Given the description of an element on the screen output the (x, y) to click on. 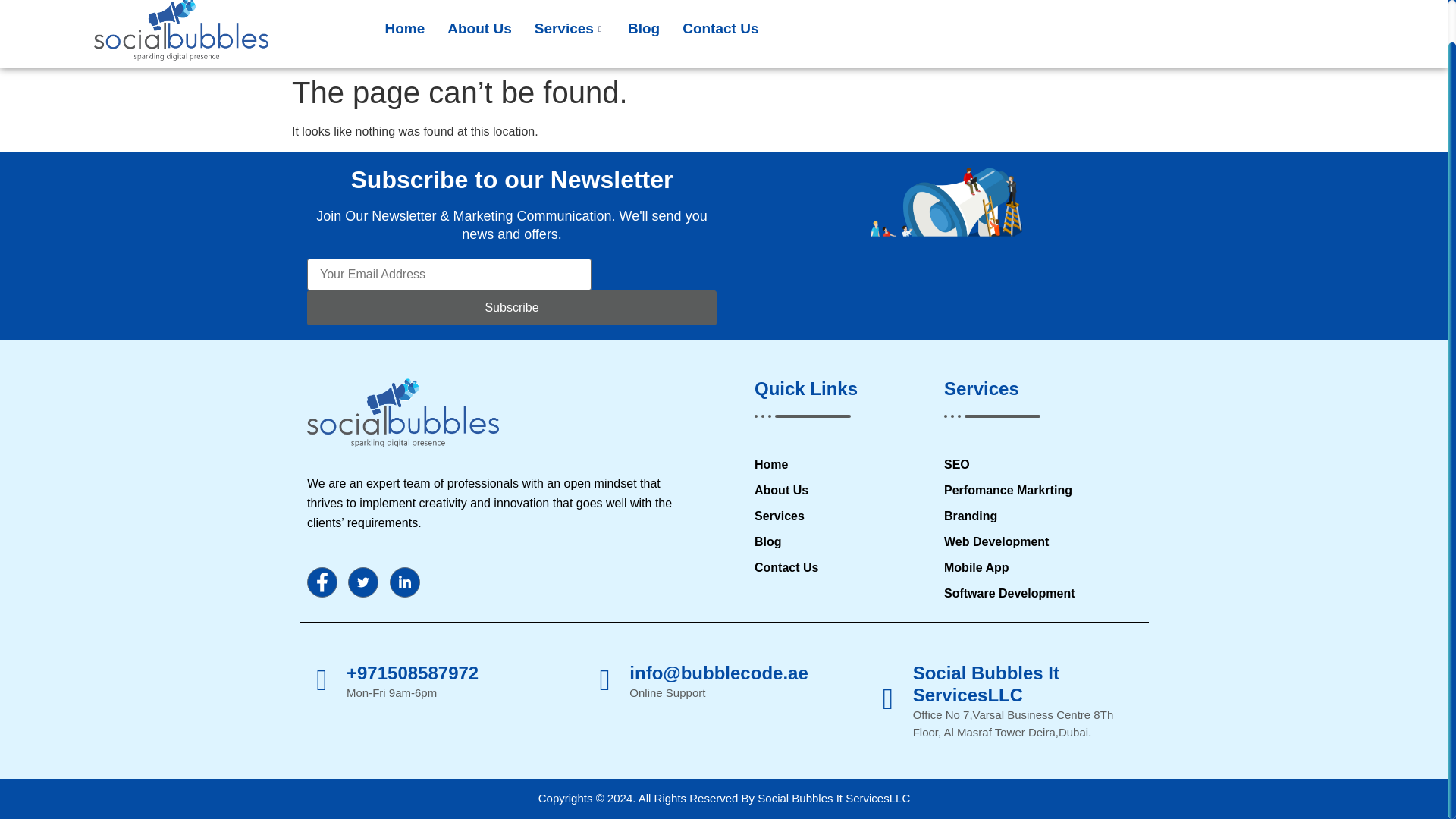
About Us (478, 29)
SEO (1040, 464)
Subscribe (511, 307)
Home (403, 29)
Perfomance Markrting (1040, 490)
Branding (1040, 515)
Blog (643, 29)
Software Development (1040, 593)
Contact Us (720, 29)
Mobile App (1040, 567)
